Given the description of an element on the screen output the (x, y) to click on. 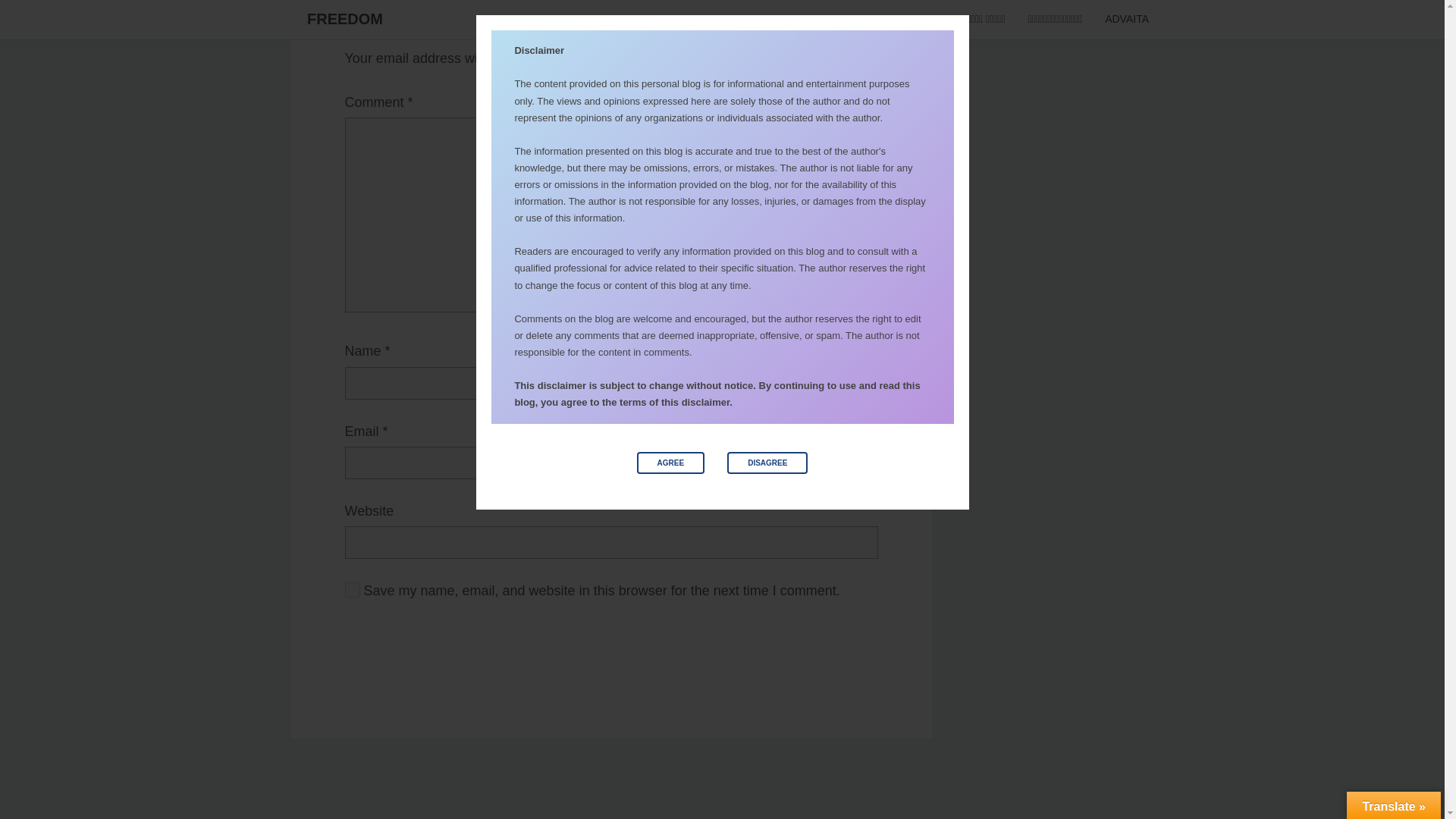
Post Comment (388, 638)
